Given the description of an element on the screen output the (x, y) to click on. 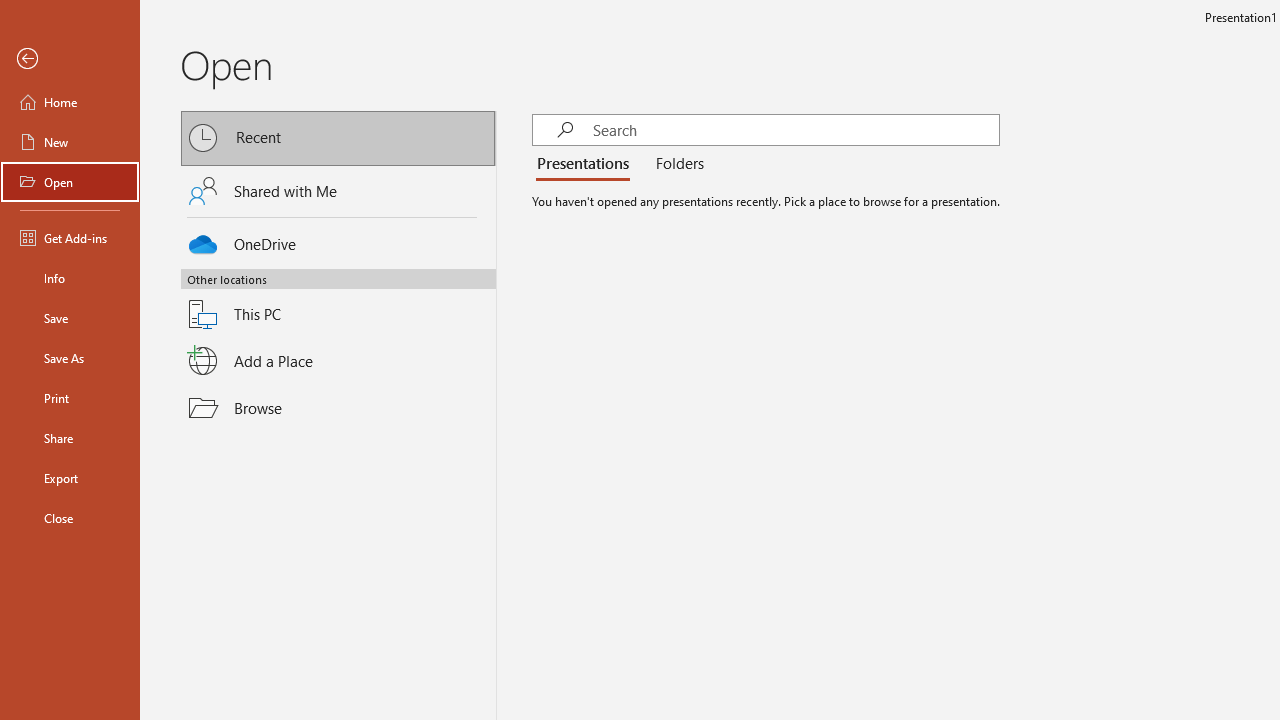
OneDrive (338, 240)
Recent (338, 138)
Shared with Me (338, 191)
Back (69, 59)
Browse (338, 407)
Folders (676, 164)
New (69, 141)
Info (69, 277)
